Given the description of an element on the screen output the (x, y) to click on. 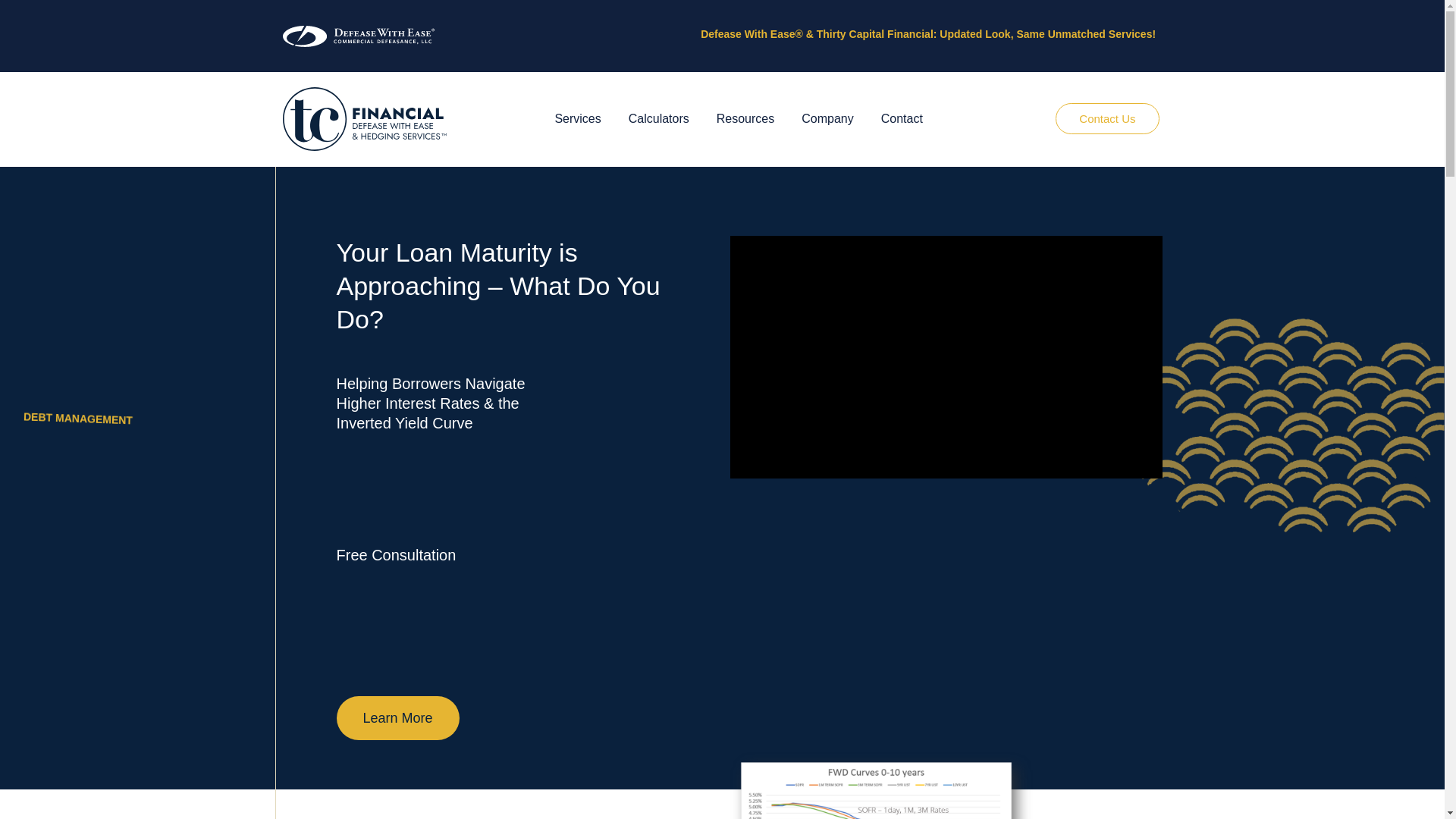
Services (576, 118)
Calculators (658, 118)
Resources (745, 118)
Contact (901, 118)
Company (827, 118)
vimeo Video Player (945, 356)
